Given the description of an element on the screen output the (x, y) to click on. 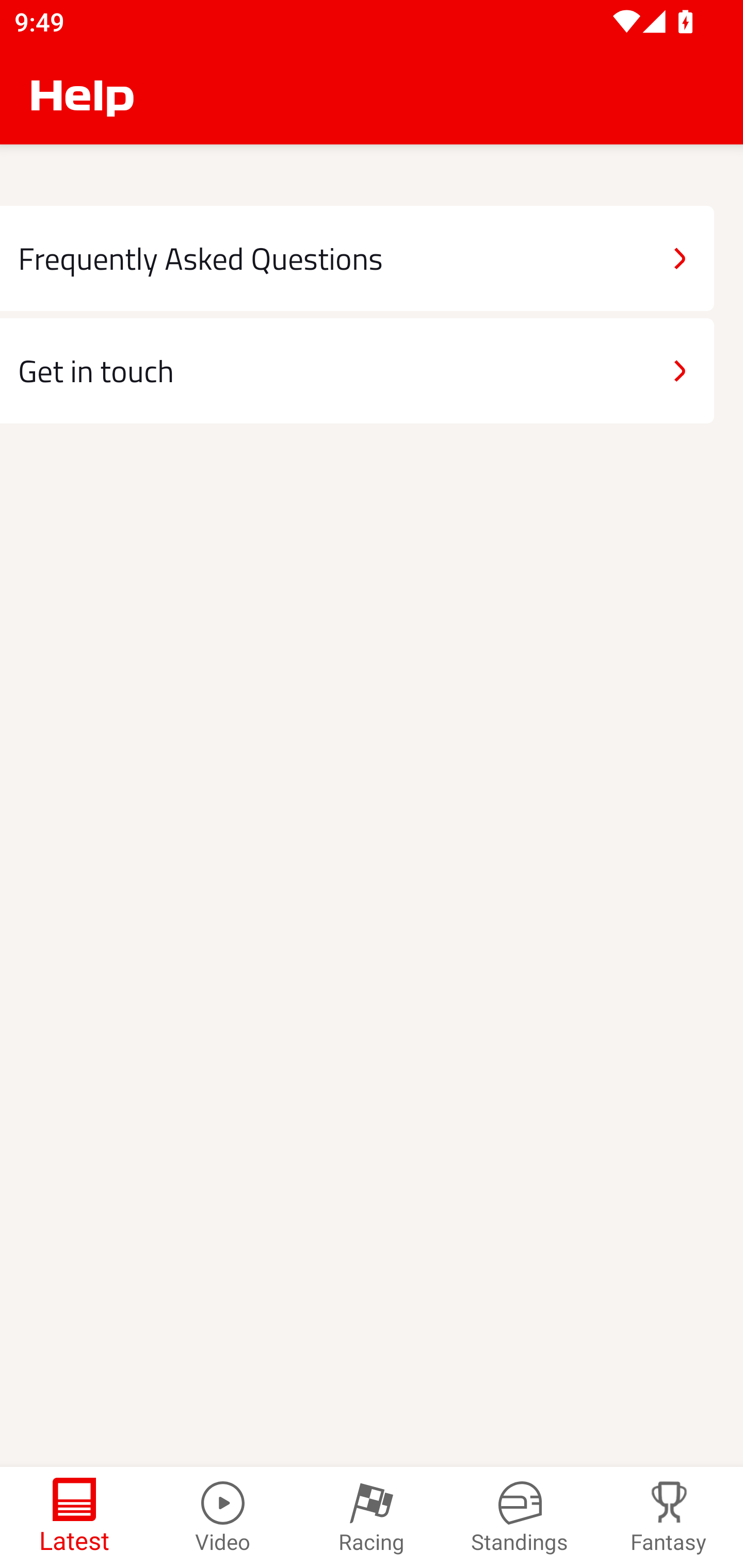
Frequently Asked Questions (357, 257)
Get in touch (357, 370)
Video (222, 1517)
Racing (371, 1517)
Standings (519, 1517)
Fantasy (668, 1517)
